Given the description of an element on the screen output the (x, y) to click on. 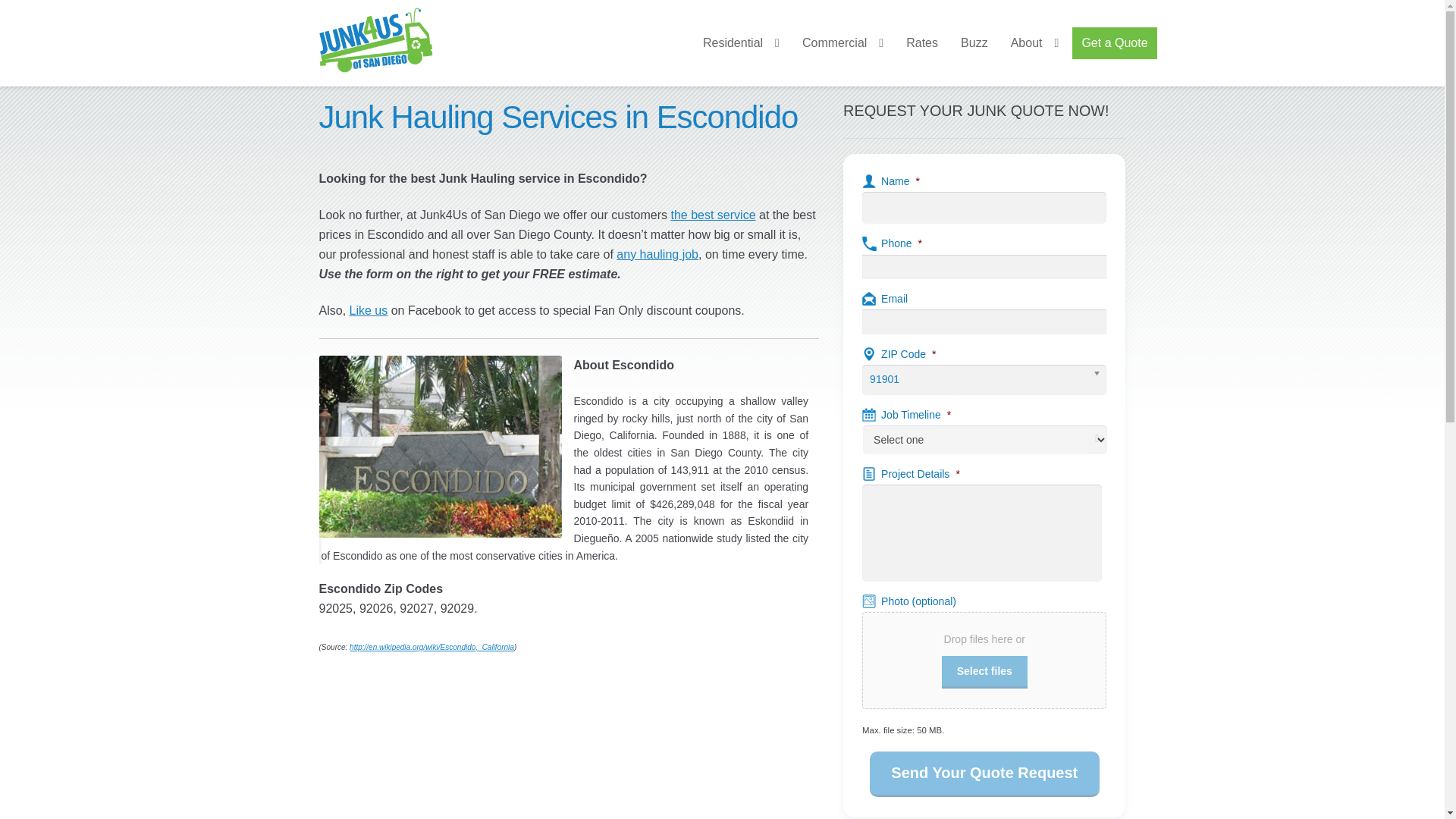
Residential Services (741, 42)
Send Your Quote Request (984, 773)
About (1034, 42)
Buzz (973, 42)
Like us on Facebook to receive additional discount coupons (368, 309)
Commercial (842, 42)
Commercial Services (656, 254)
Get a Quote (1114, 42)
Send Your Quote Request (984, 773)
Rates (921, 42)
